Given the description of an element on the screen output the (x, y) to click on. 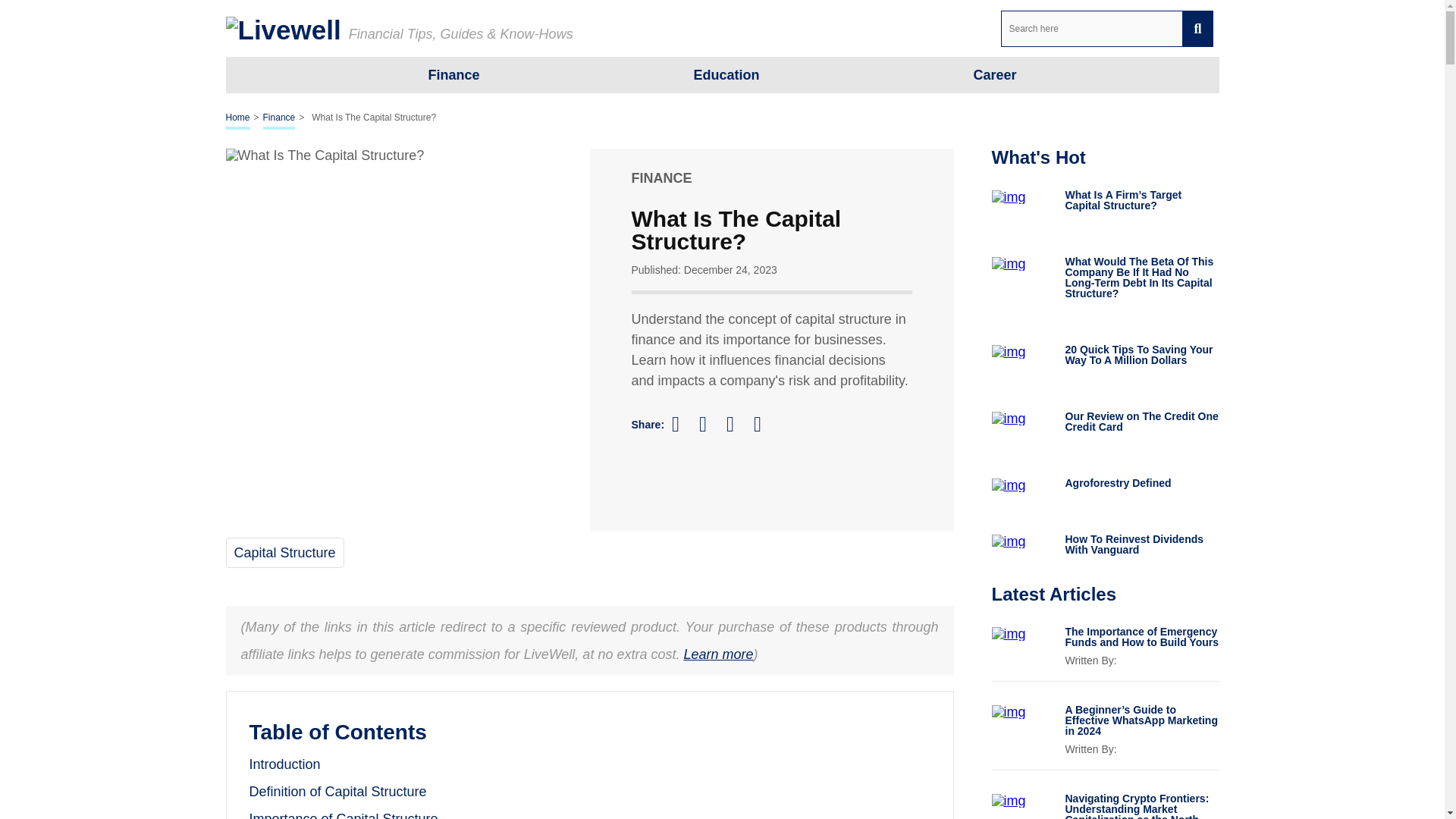
Share on Twitter (709, 424)
Share on Pinterest (737, 423)
Share on WhatsApp (764, 423)
Home (237, 118)
Education (725, 74)
Learn more (717, 654)
Agroforestry Defined (1141, 482)
Capital Structure (283, 552)
Importance of Capital Structure (343, 815)
